Given the description of an element on the screen output the (x, y) to click on. 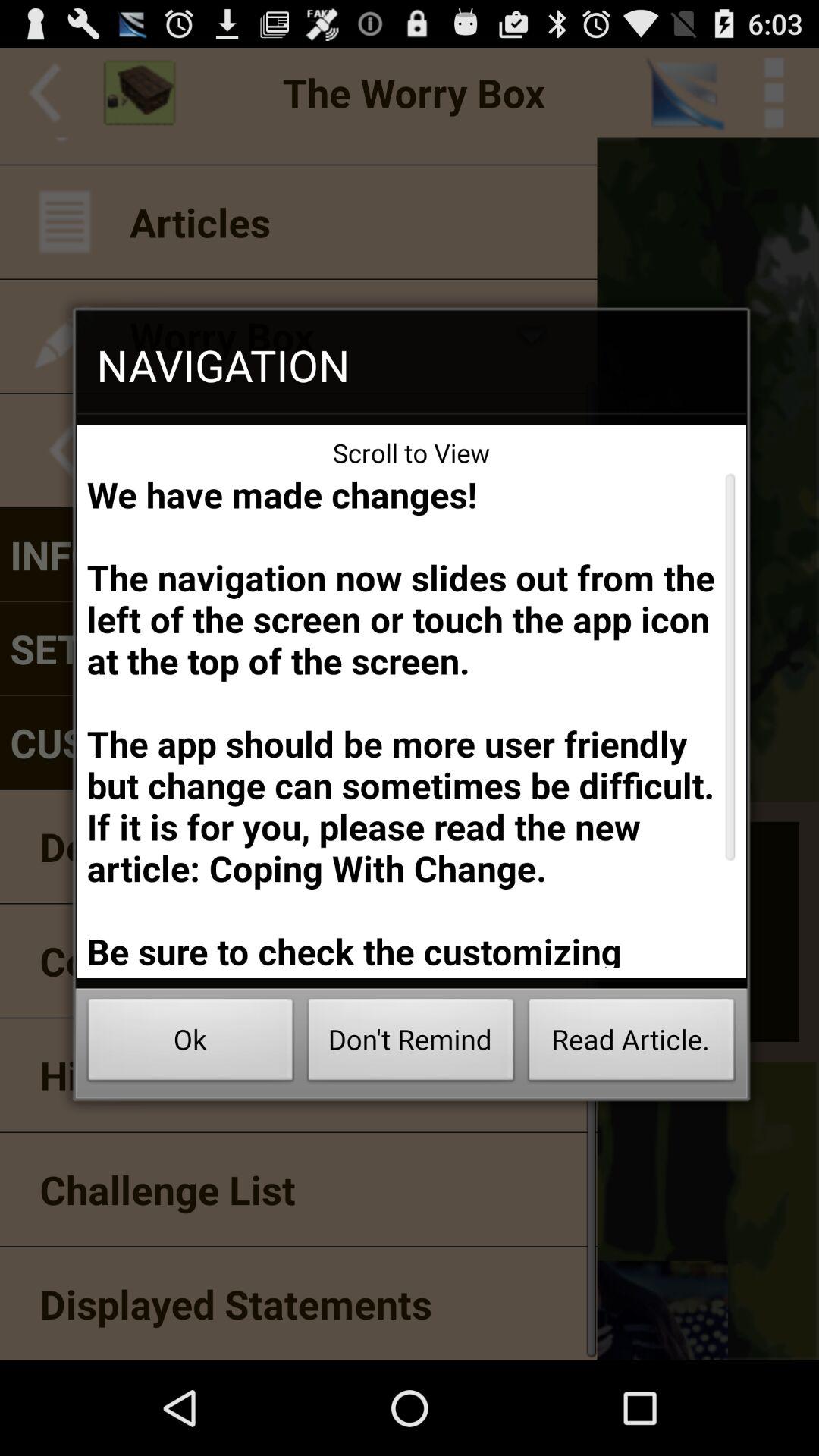
tap the icon below the we have made item (631, 1044)
